Given the description of an element on the screen output the (x, y) to click on. 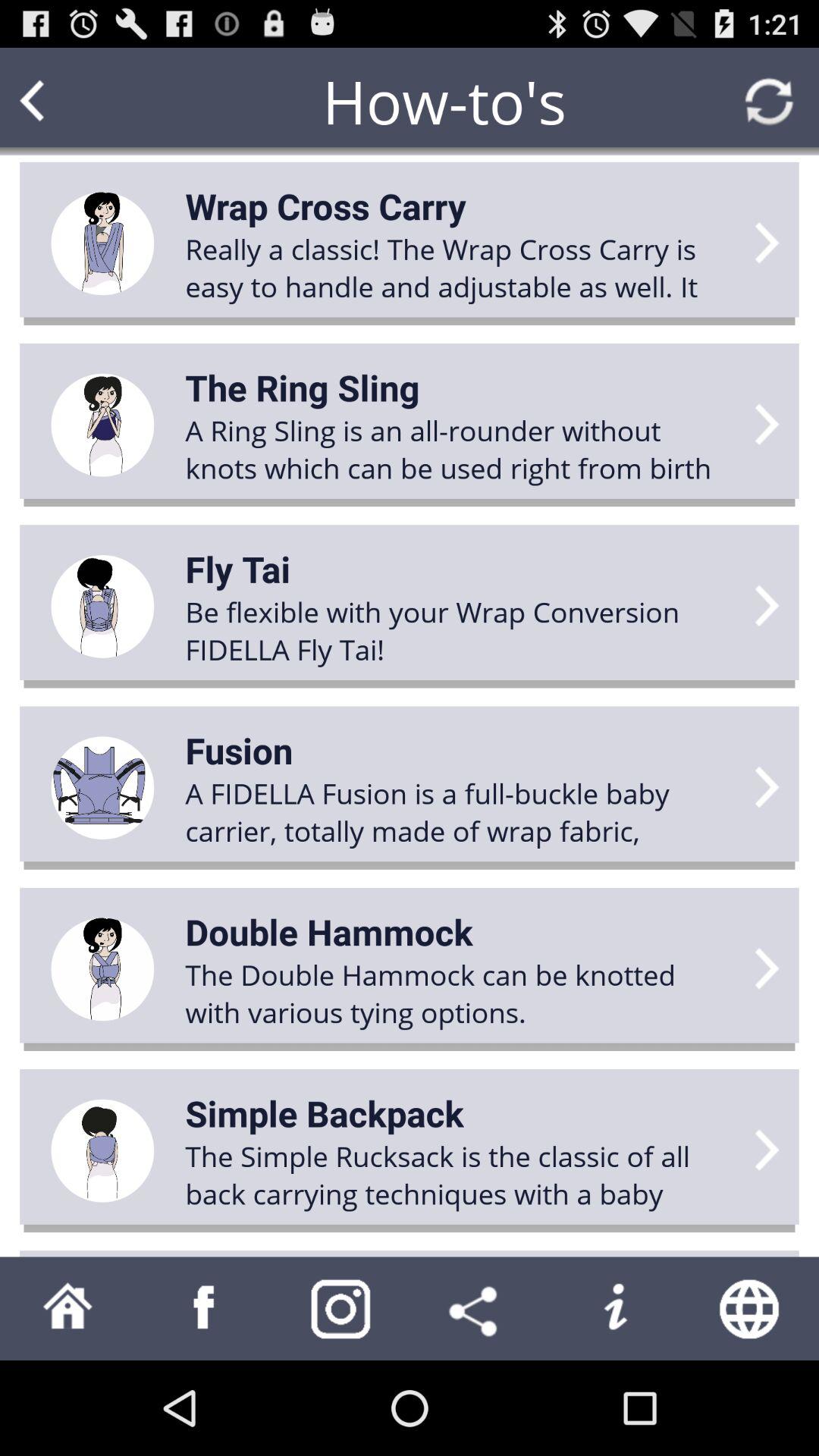
choose the app below the the double hammock item (324, 1113)
